Given the description of an element on the screen output the (x, y) to click on. 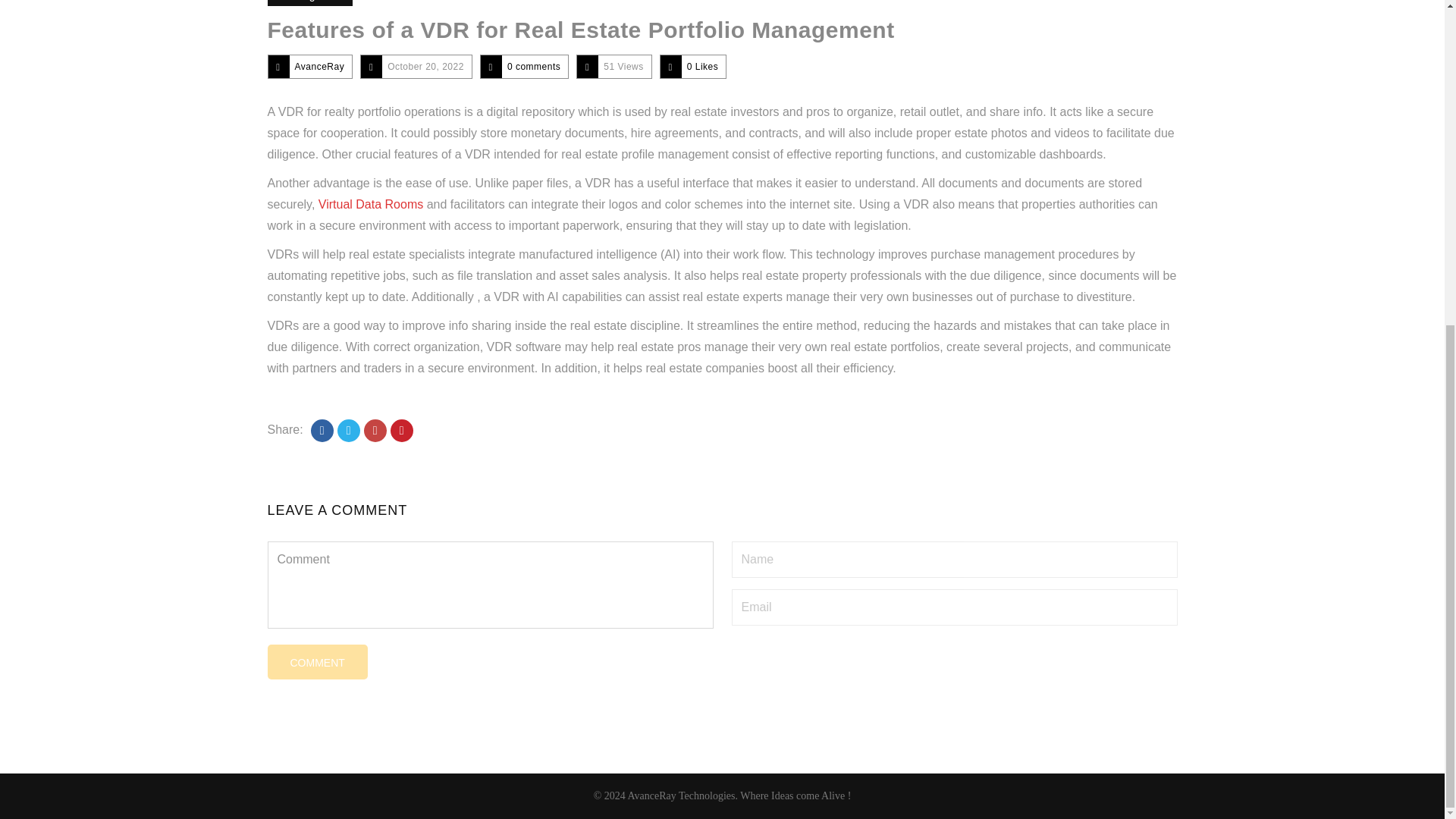
Comment (316, 661)
Features of a VDR for Real Estate Portfolio Management (579, 29)
AvanceRay (318, 66)
0 Likes (703, 66)
0 comments (533, 66)
View all posts by AvanceRay (318, 66)
Uncategorized (309, 2)
Comment (316, 661)
Virtual Data Rooms (370, 204)
